Given the description of an element on the screen output the (x, y) to click on. 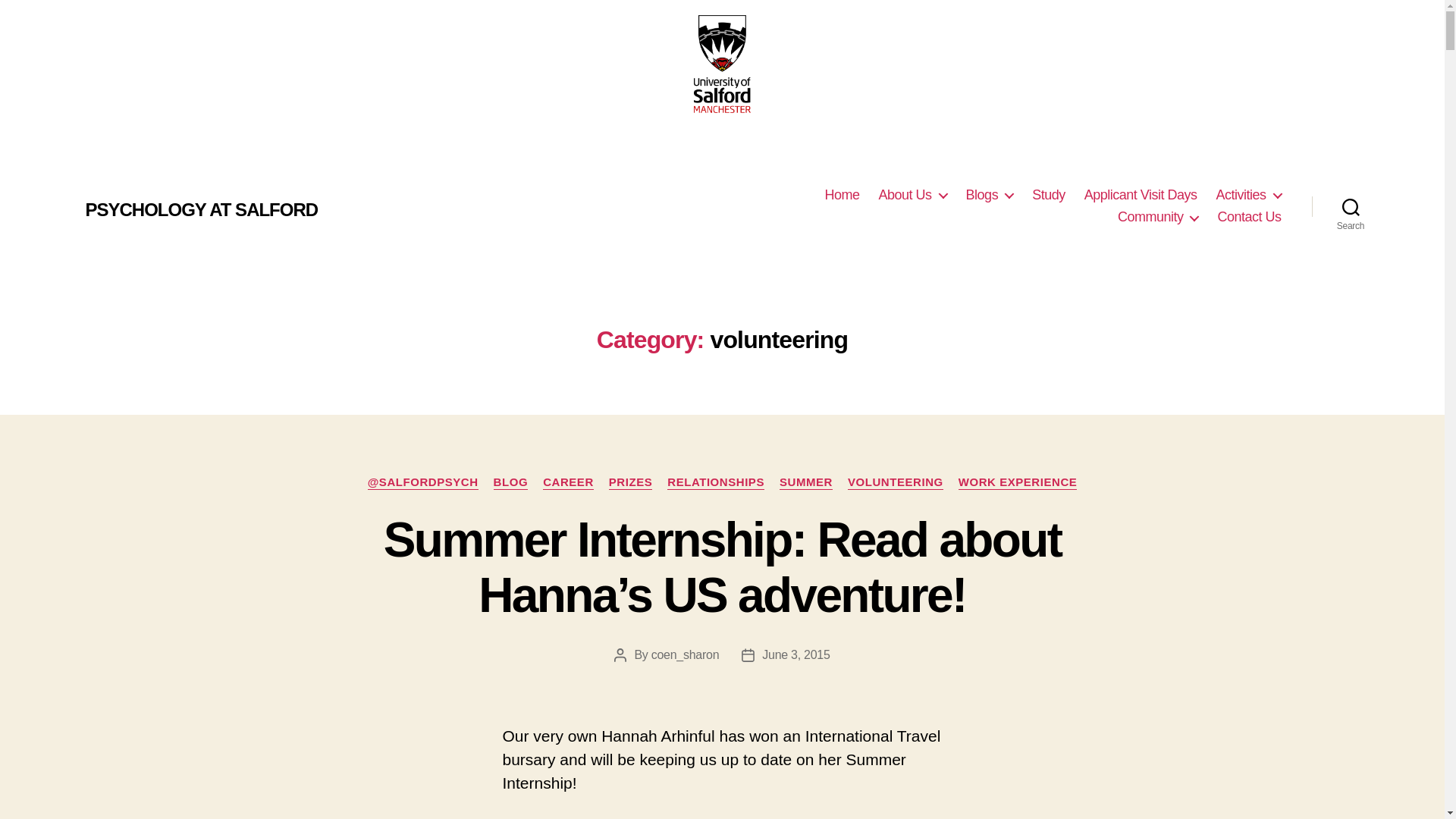
Search (1350, 205)
Activities (1248, 195)
Community (1158, 217)
PSYCHOLOGY AT SALFORD (200, 209)
Applicant Visit Days (1140, 195)
Blogs (989, 195)
Contact Us (1249, 217)
Study (1048, 195)
About Us (913, 195)
Home (842, 195)
